Given the description of an element on the screen output the (x, y) to click on. 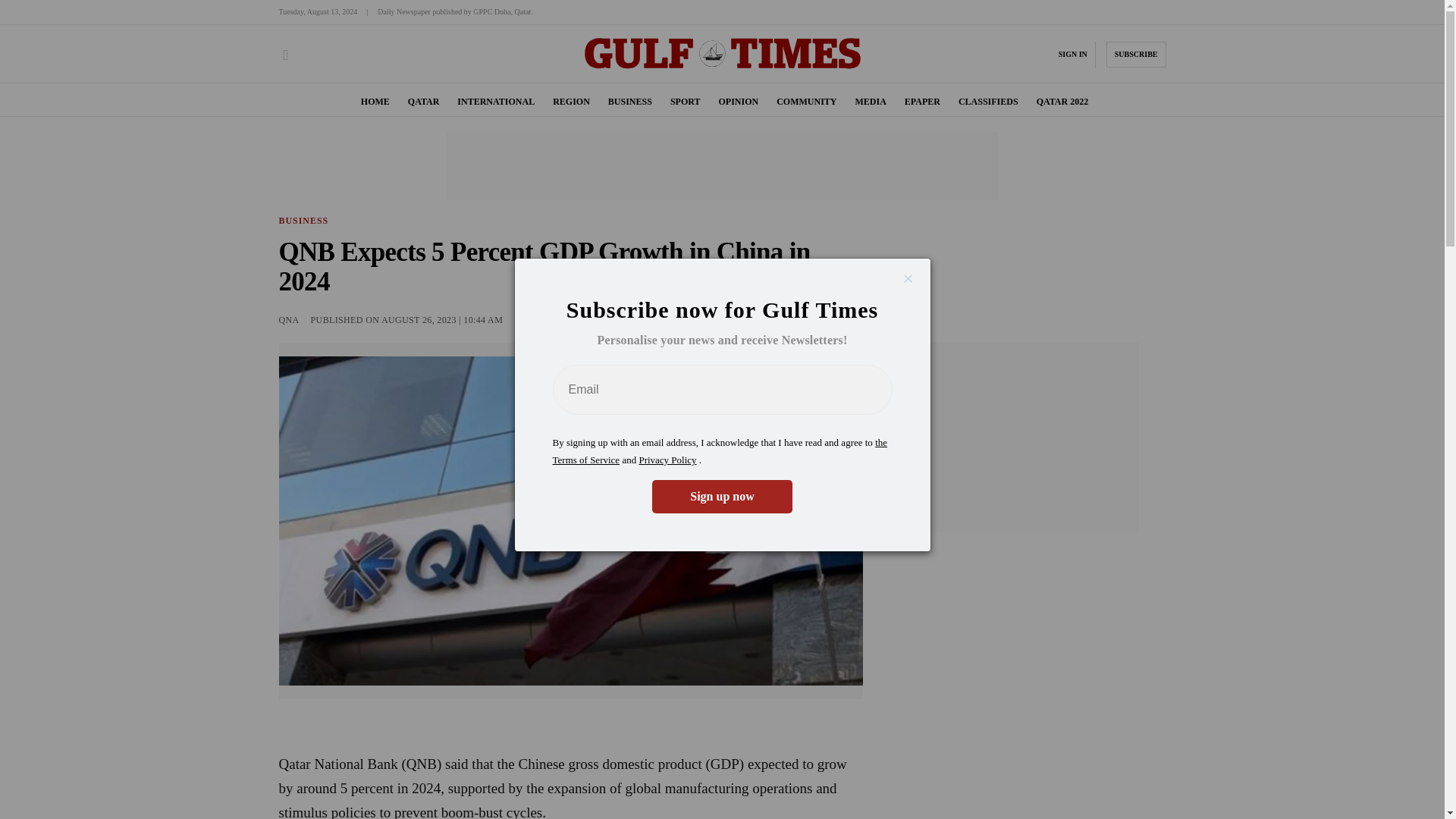
CLASSIFIEDS (987, 101)
OPINION (737, 101)
whatsapp share (852, 319)
CLASSIFIEDS (987, 101)
Sign up now (722, 496)
BUSINESS (304, 220)
REGION (571, 101)
COMMUNITY (805, 101)
Sign In (1072, 53)
Subscribe (1136, 54)
